Given the description of an element on the screen output the (x, y) to click on. 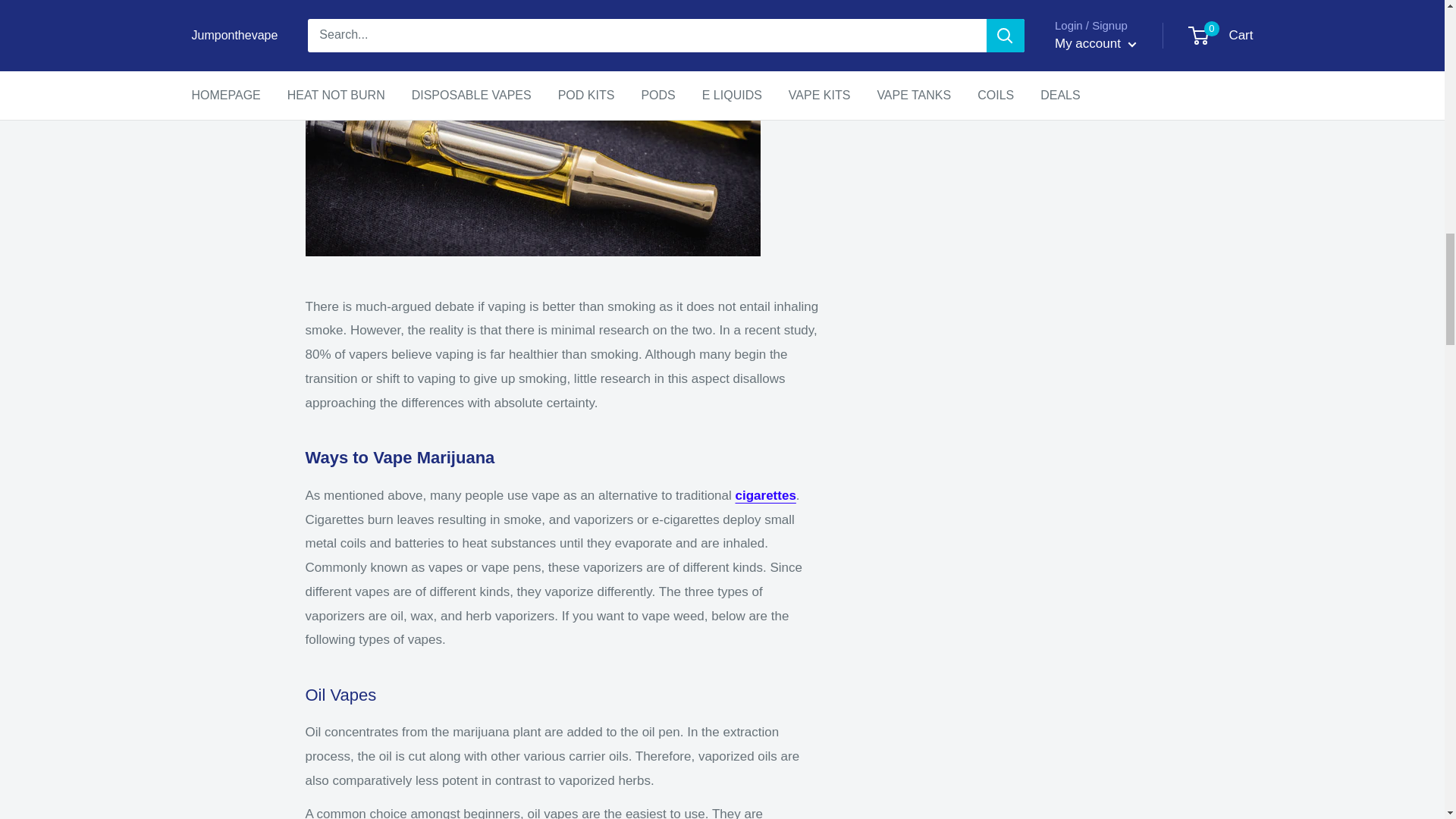
Cigarettes (765, 495)
